Given the description of an element on the screen output the (x, y) to click on. 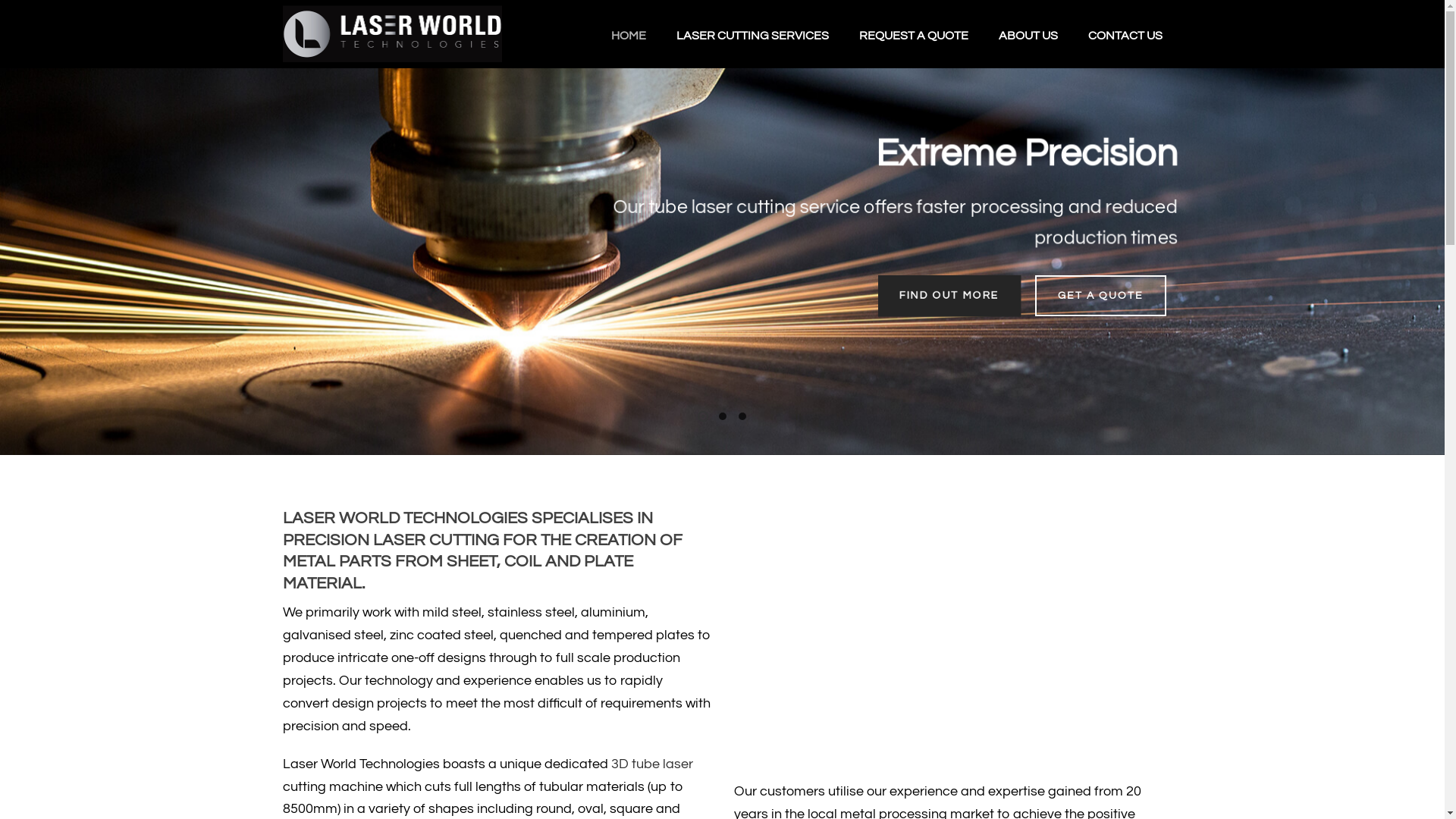
LASER CUTTING SERVICES Element type: text (752, 34)
3D tube laser Element type: text (652, 763)
REQUEST A QUOTE Element type: text (912, 34)
CONTACT US Element type: text (1124, 34)
ABOUT US Element type: text (1027, 34)
FIND OUT MORE Element type: text (949, 295)
HOME Element type: text (628, 34)
GET A QUOTE Element type: text (1099, 295)
